Given the description of an element on the screen output the (x, y) to click on. 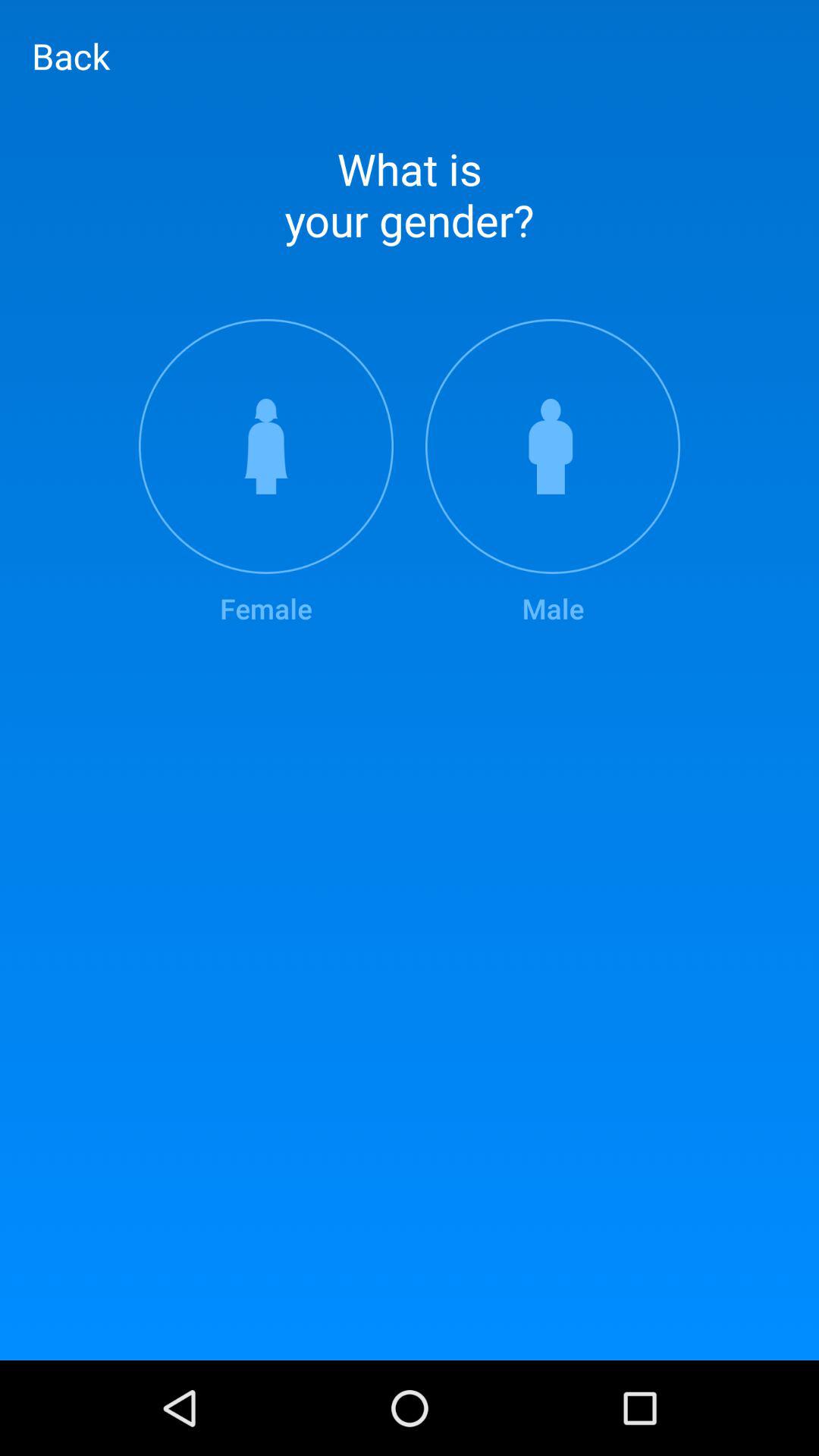
tap the icon below what is your item (552, 473)
